Given the description of an element on the screen output the (x, y) to click on. 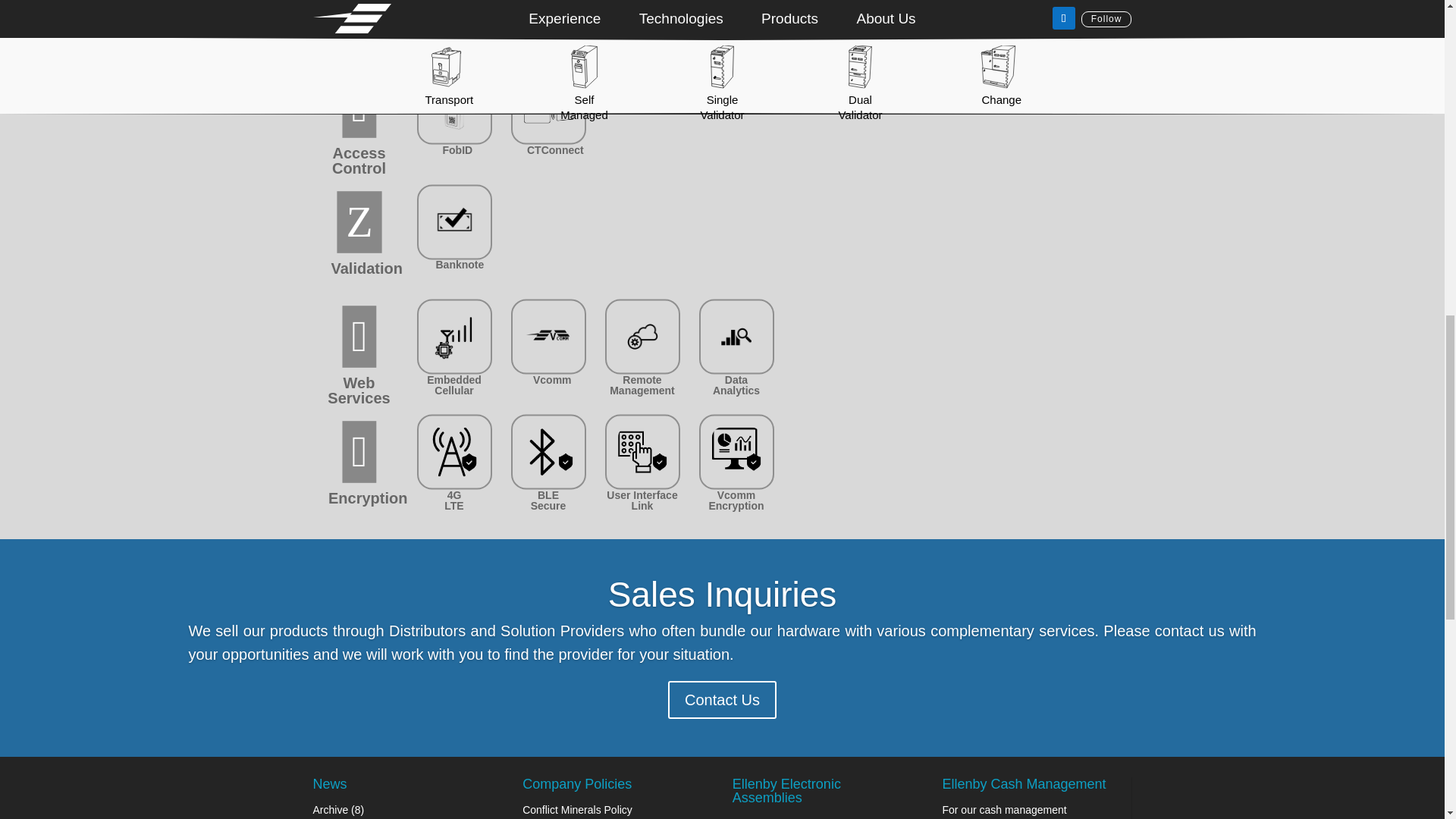
GPS (644, 34)
Strobe (552, 34)
Tamper (834, 34)
Siren (457, 34)
Trip Time (735, 39)
RF Proximity (924, 39)
FobID (457, 150)
